Given the description of an element on the screen output the (x, y) to click on. 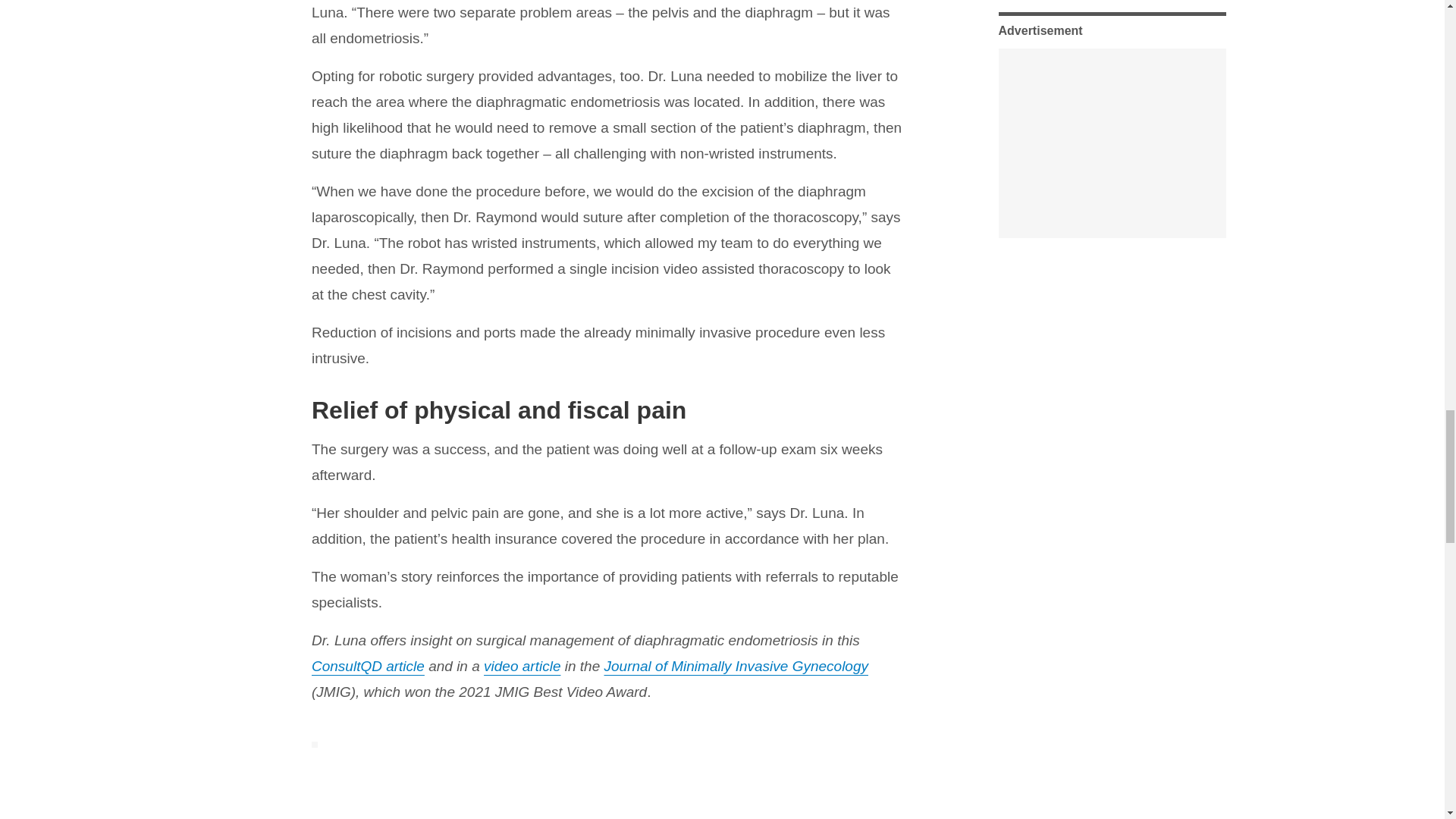
Journal of Minimally Invasive Gynecology (735, 666)
video article (521, 666)
ConsultQD article (368, 666)
